Given the description of an element on the screen output the (x, y) to click on. 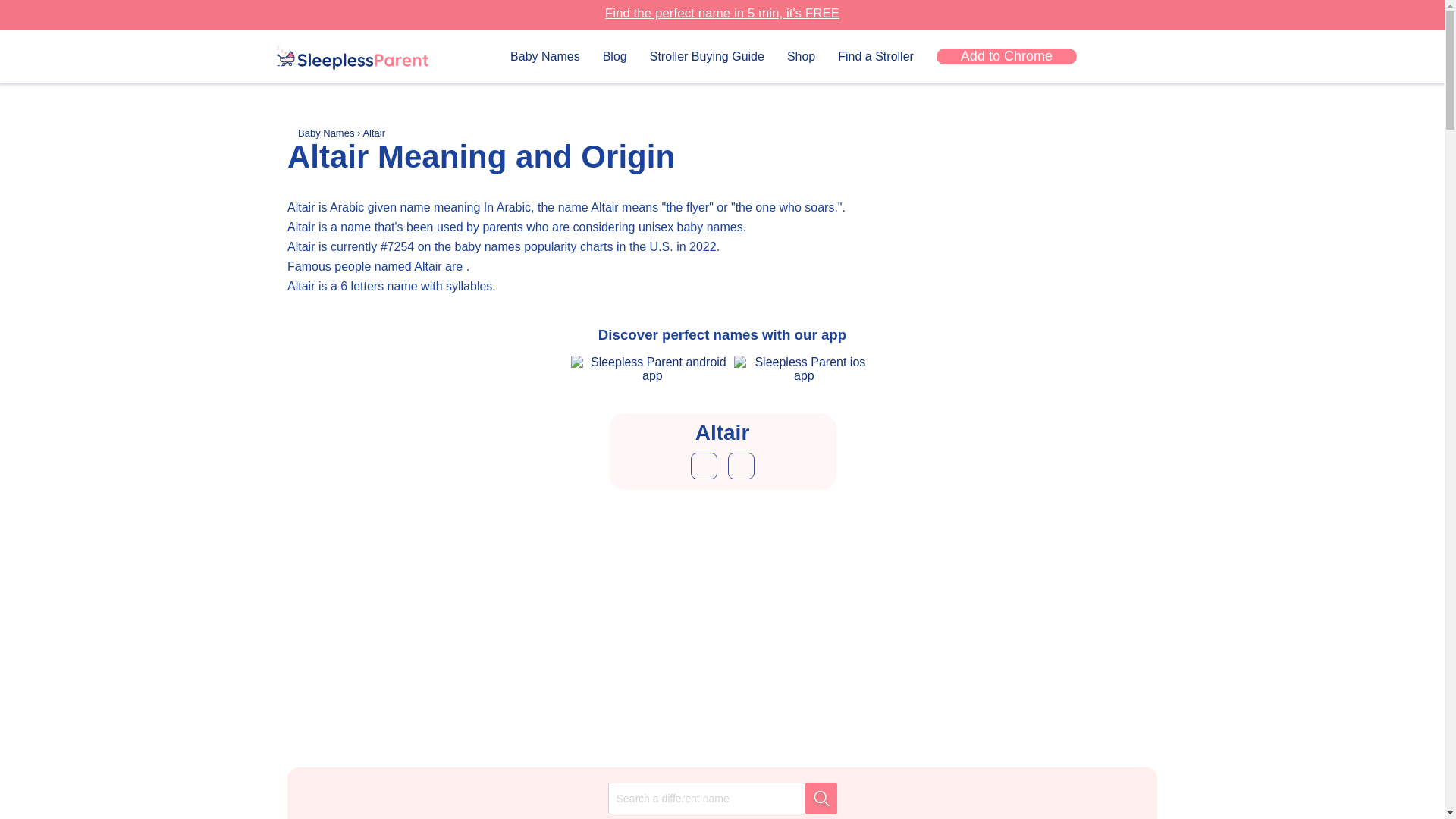
Shop (801, 56)
Add to Chrome (1006, 56)
SleeplessParent ios app (803, 369)
Find a Stroller (876, 56)
Stroller Buying Guide (706, 56)
Altair (373, 132)
home page (352, 58)
Blog (614, 56)
Add to Chrome (1006, 56)
Baby Names (545, 56)
